Given the description of an element on the screen output the (x, y) to click on. 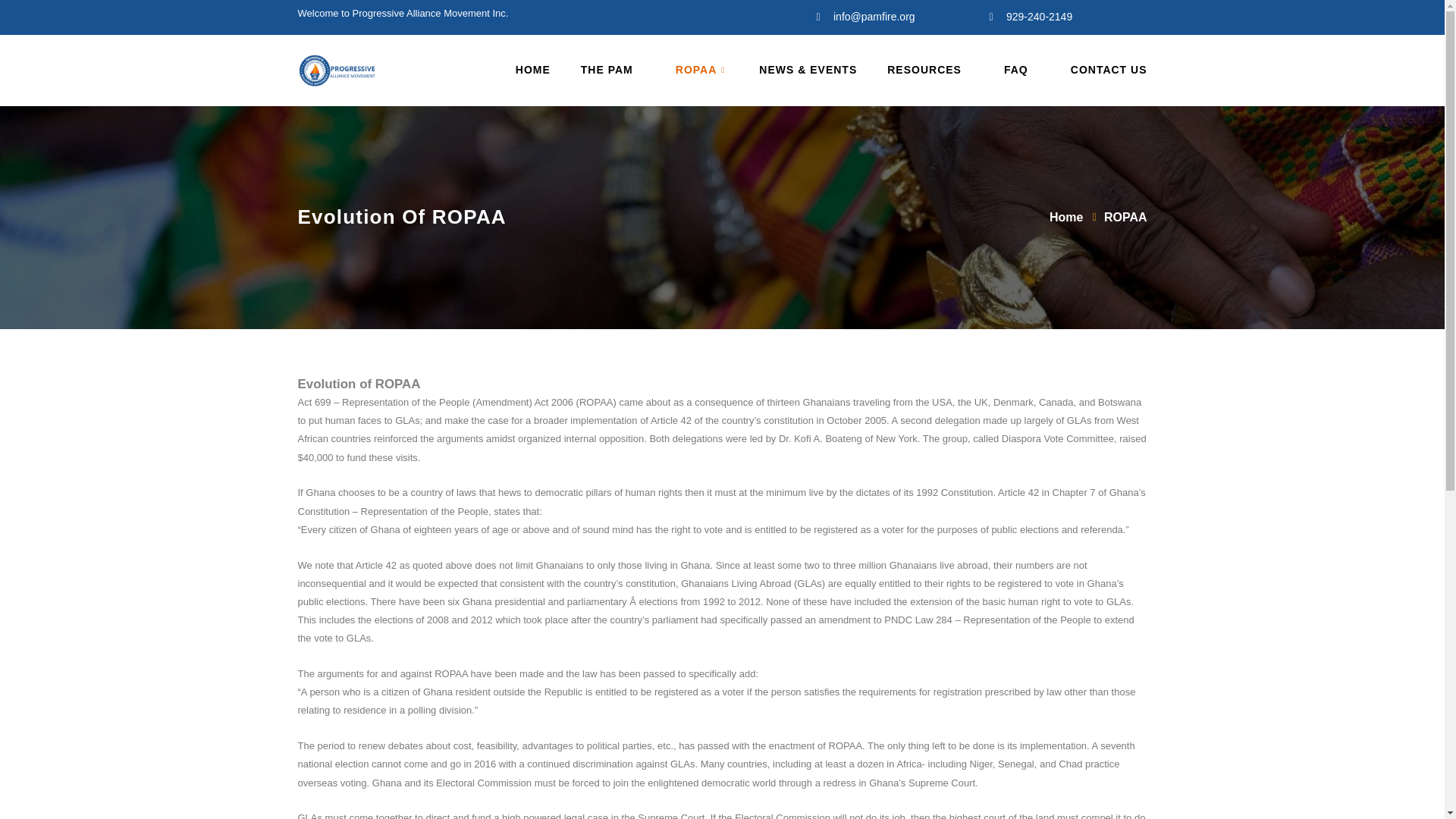
THE PAM (597, 70)
RESOURCES (915, 70)
CONTACT US (1094, 70)
HOME (517, 70)
FAQ (1007, 70)
ROPAA (687, 70)
